Given the description of an element on the screen output the (x, y) to click on. 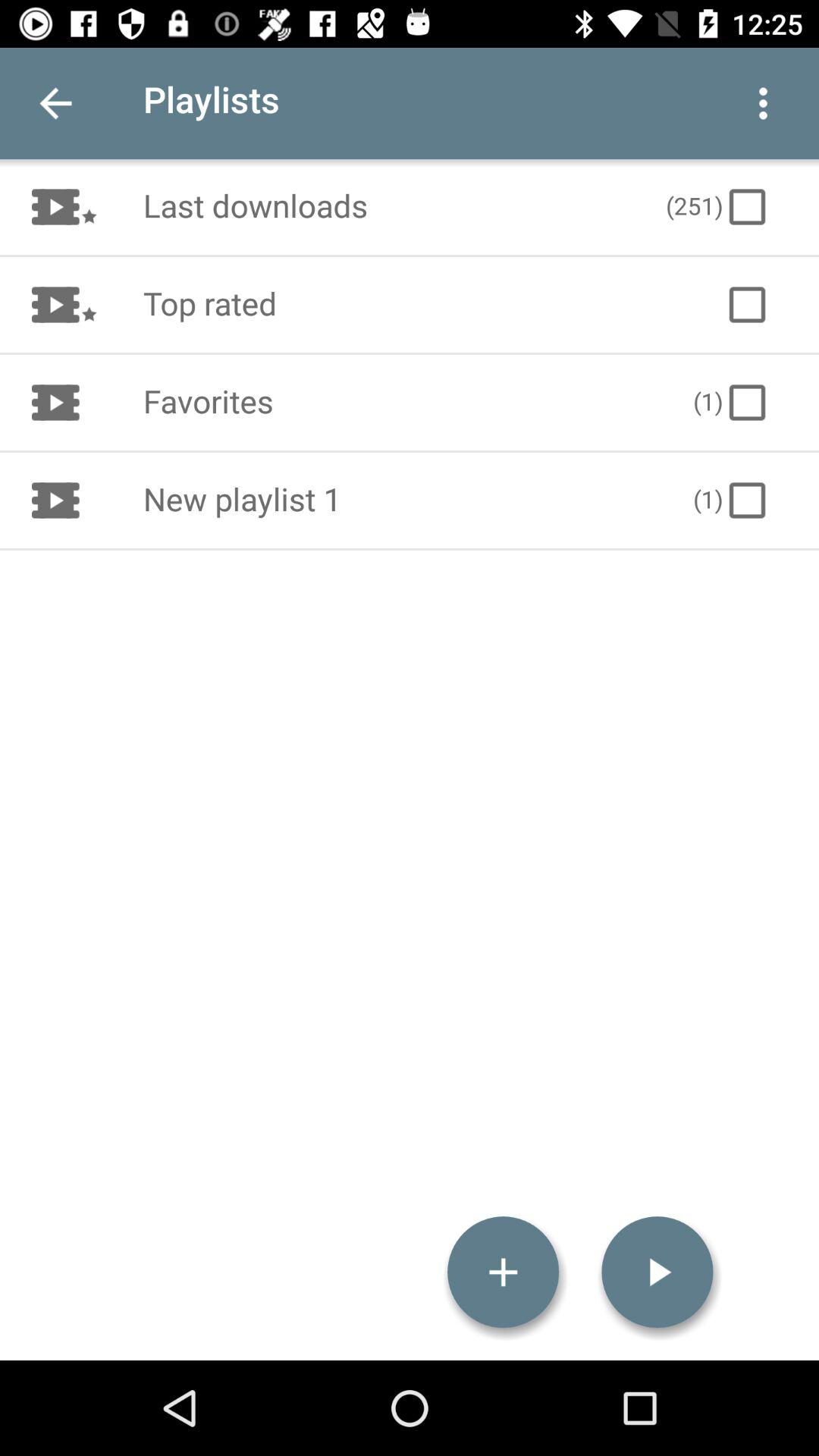
choose item next to playlists icon (763, 103)
